Given the description of an element on the screen output the (x, y) to click on. 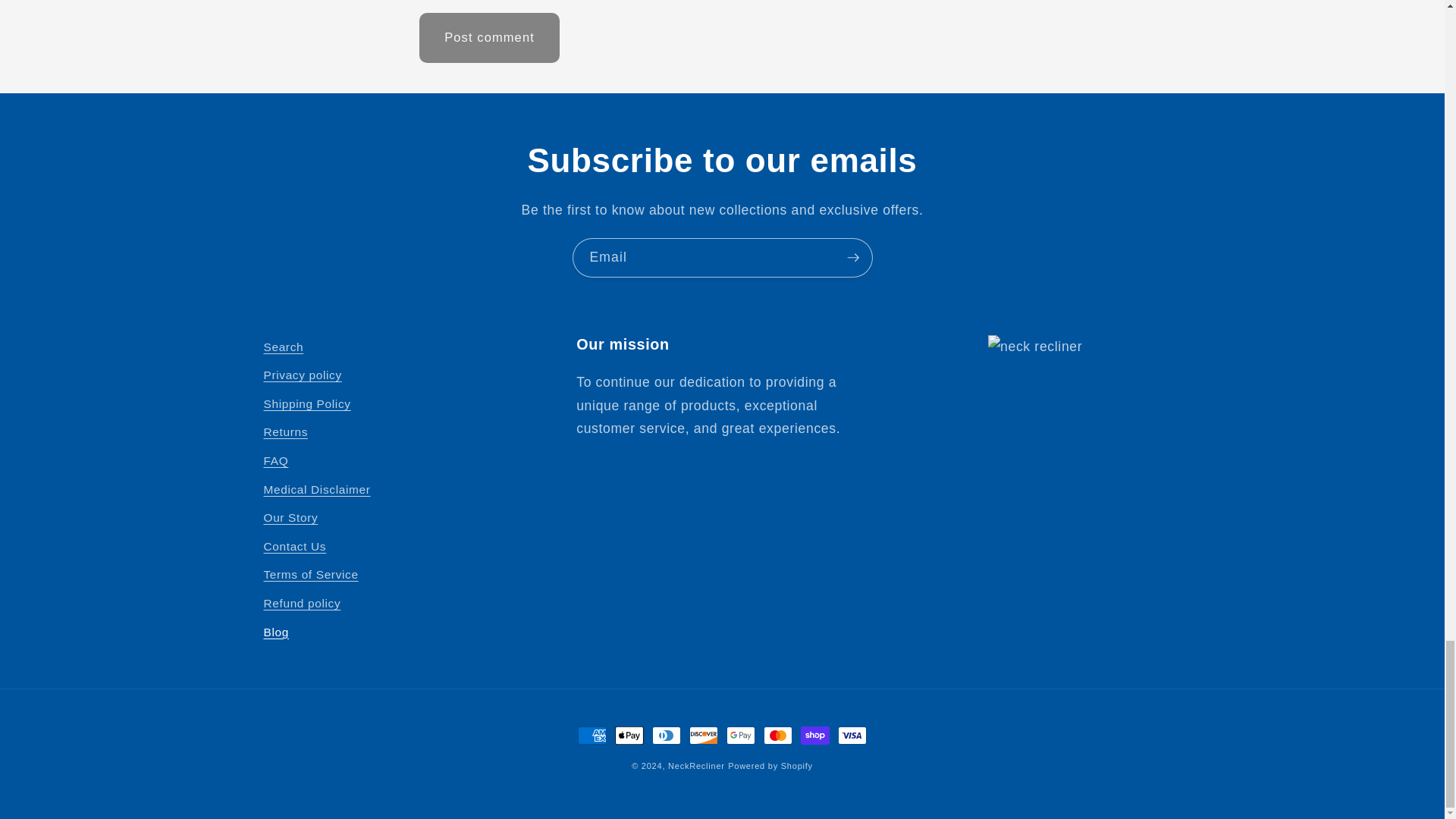
Search (283, 349)
Our Story (290, 518)
Returns (285, 432)
Medical Disclaimer (317, 489)
Post comment (489, 38)
Privacy policy (302, 375)
Contact Us (294, 546)
Powered by Shopify (770, 765)
Post comment (489, 38)
Shipping Policy (306, 403)
